Given the description of an element on the screen output the (x, y) to click on. 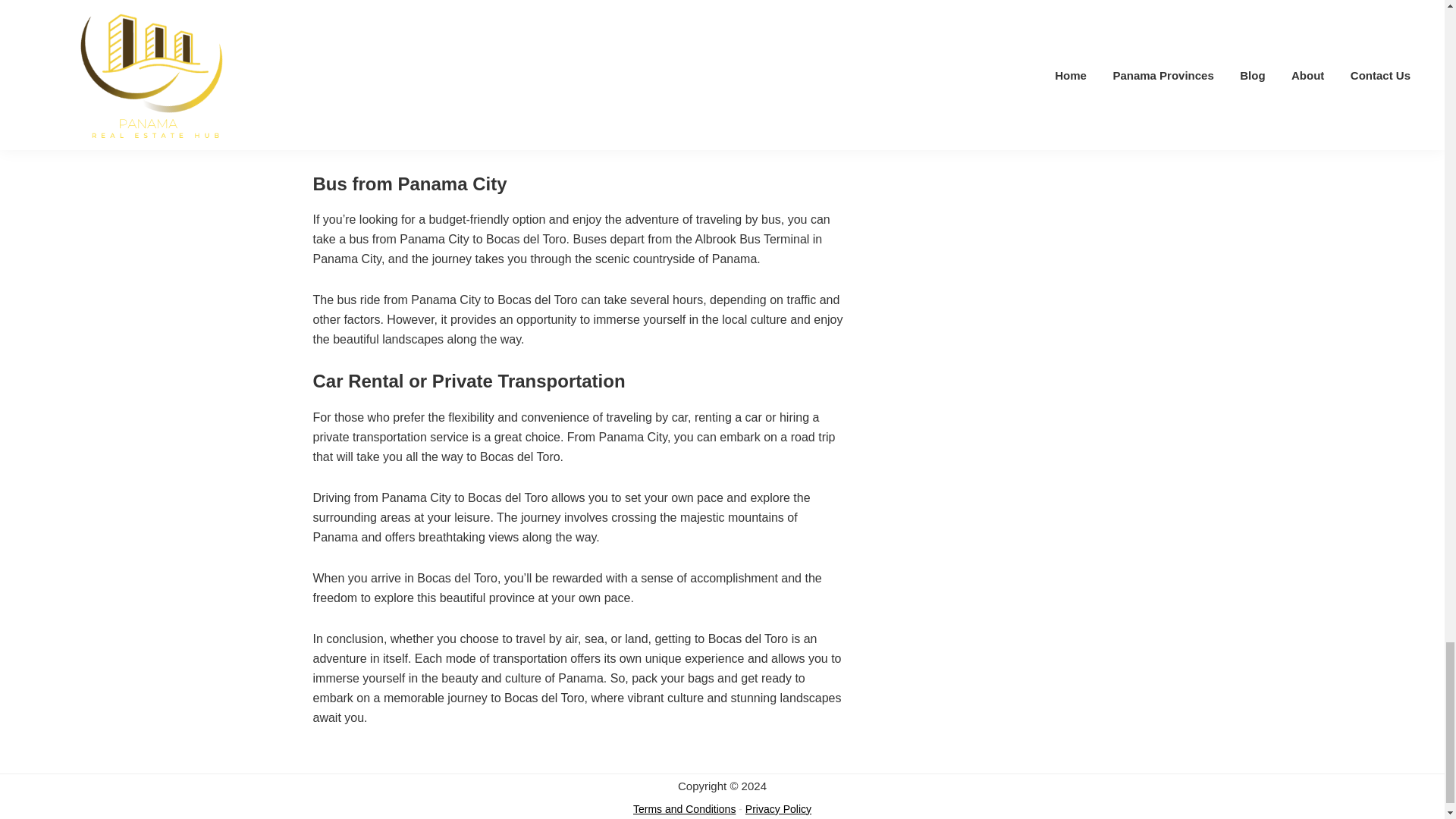
Tips for Getting to Bocas del Toro (438, 15)
Privacy Policy (777, 808)
Terms and Conditions (684, 808)
